Given the description of an element on the screen output the (x, y) to click on. 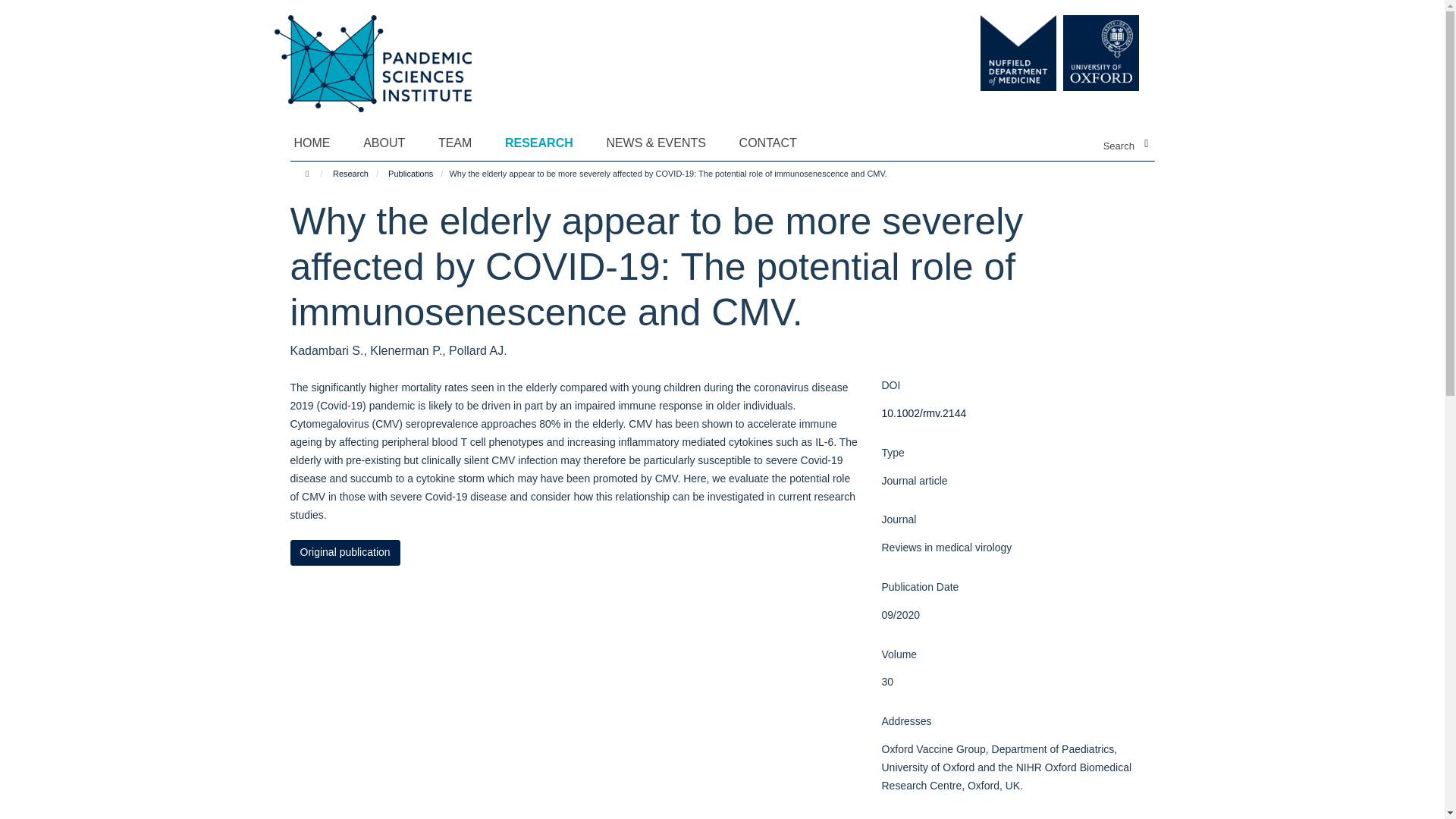
HOME (321, 142)
NDM University of Oxford (1074, 52)
Original publication (343, 552)
Publications (410, 173)
TEAM (464, 142)
Research (350, 173)
ABOUT (392, 142)
CONTACT (777, 142)
RESEARCH (548, 142)
Pandemic Sciences Institute (380, 54)
